Given the description of an element on the screen output the (x, y) to click on. 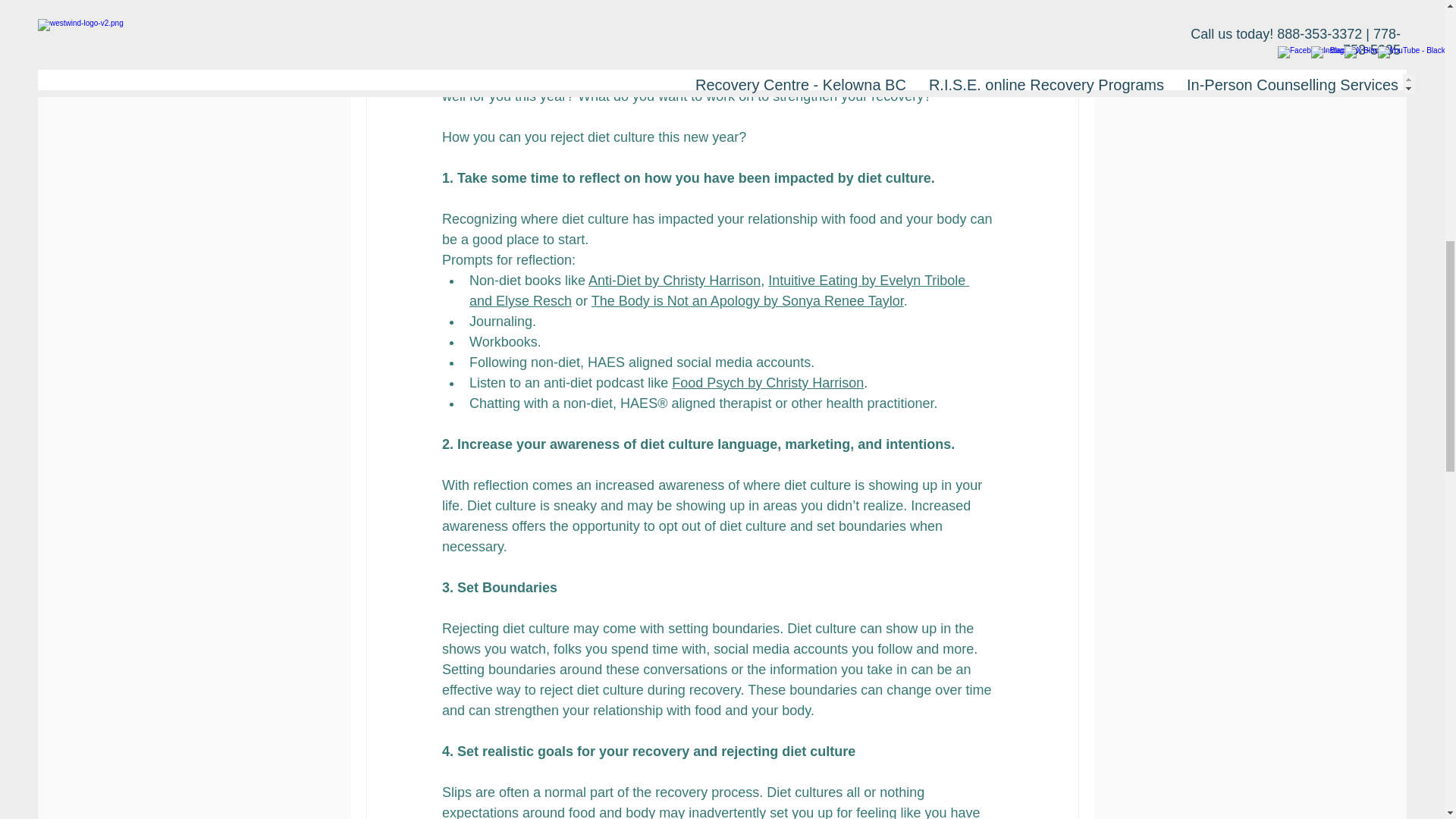
Anti-Diet by Christy Harrison (674, 280)
The Body is Not an Apology by Sonya Renee Taylor (746, 300)
Intuitive Eating by Evelyn Tribole and Elyse Resch (718, 290)
Food Psych by Christy Harrison (767, 382)
